Given the description of an element on the screen output the (x, y) to click on. 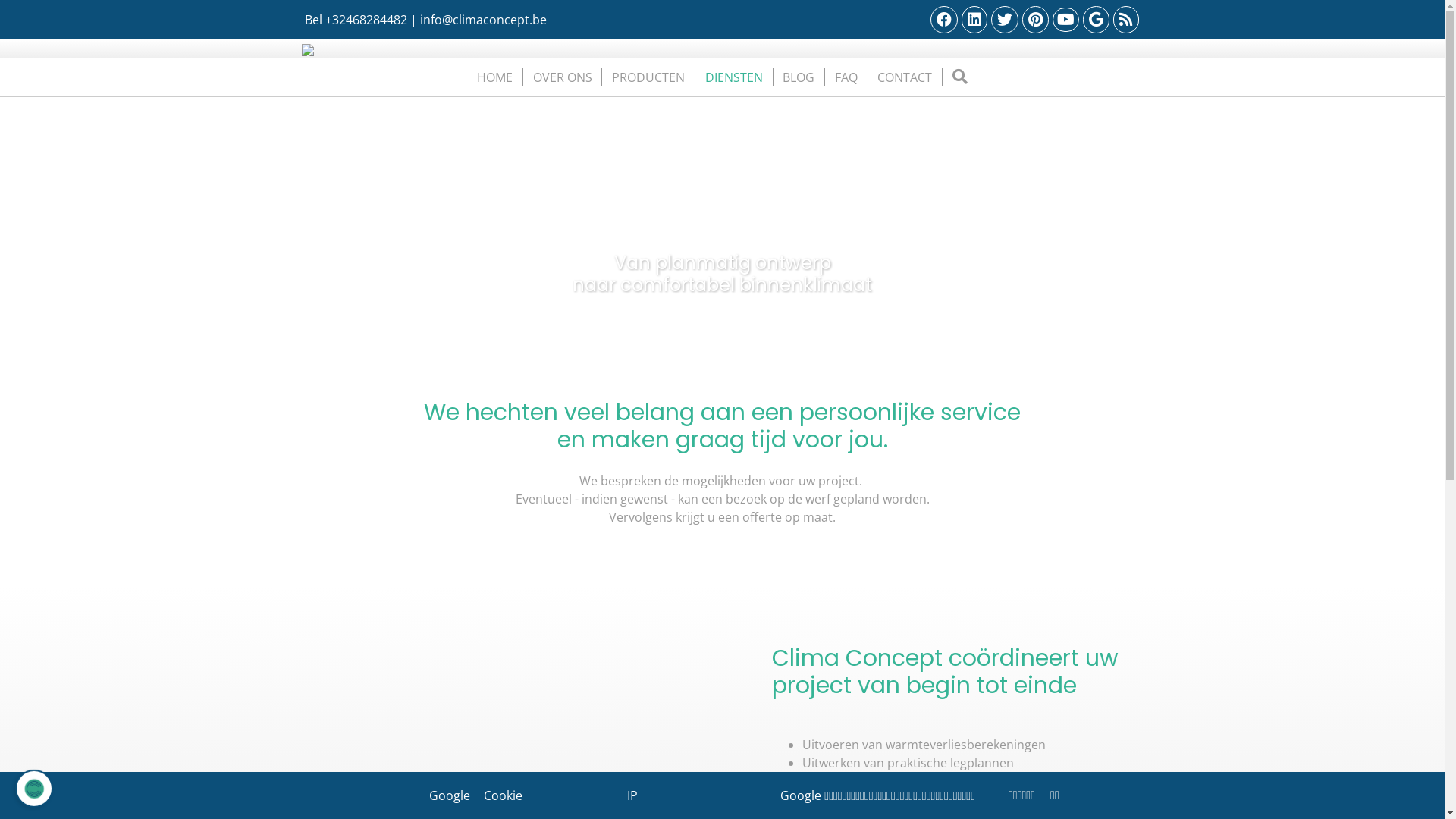
HOME Element type: text (494, 77)
BLOG Element type: text (798, 77)
FAQ Element type: text (845, 77)
info@climaconcept.be Element type: text (483, 19)
PRODUCTEN Element type: text (647, 77)
OVER ONS Element type: text (562, 77)
+32468284482 Element type: text (365, 19)
CONTACT Element type: text (904, 77)
DIENSTEN Element type: text (733, 77)
